Given the description of an element on the screen output the (x, y) to click on. 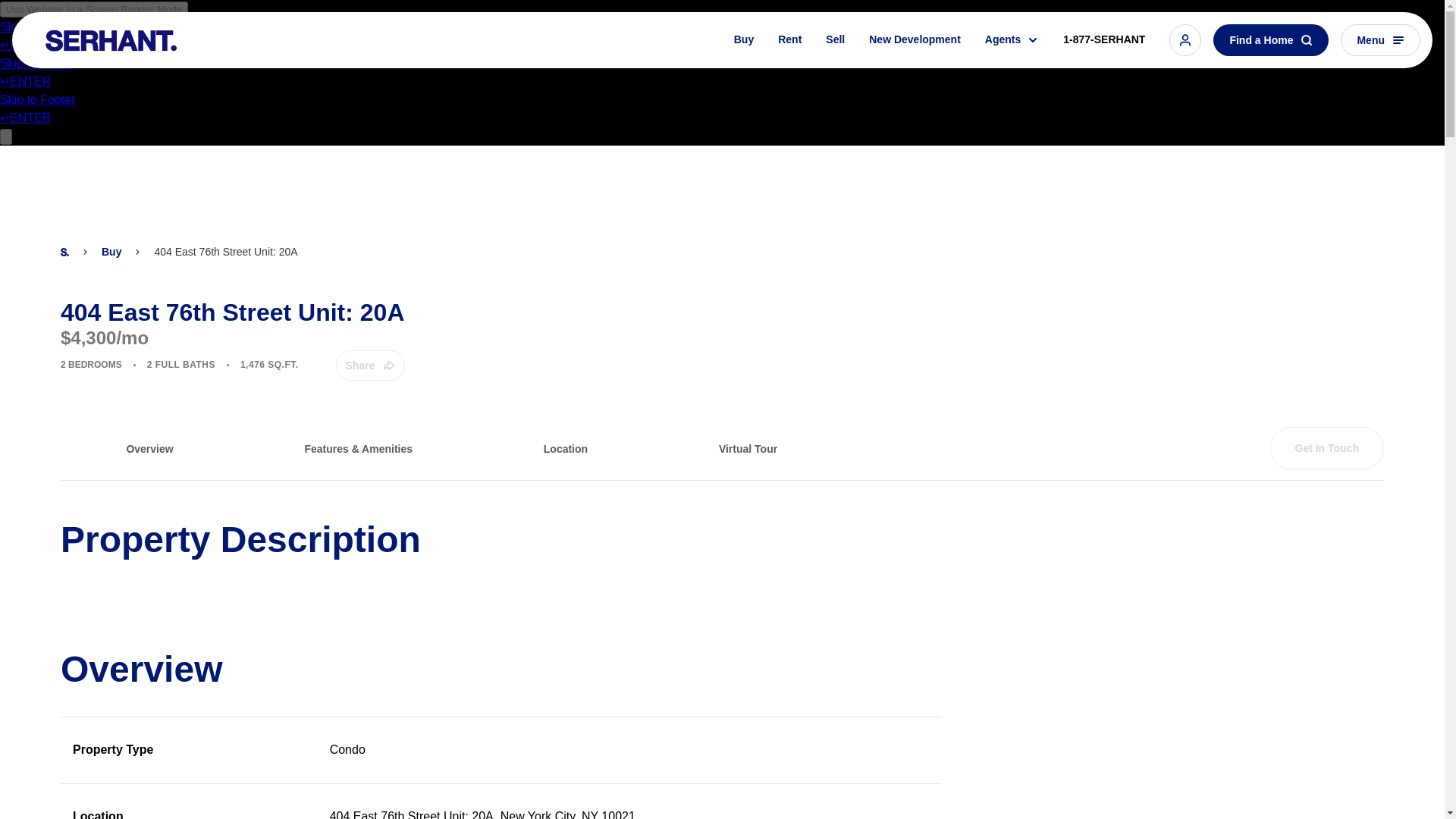
Find a Home (1269, 40)
Rent (789, 43)
Agents (1011, 42)
Sell (835, 43)
1-877-SERHANT (1104, 40)
Buy (743, 44)
Toggle Sidemenu (1380, 40)
Menu (1380, 40)
New Development (914, 42)
